Given the description of an element on the screen output the (x, y) to click on. 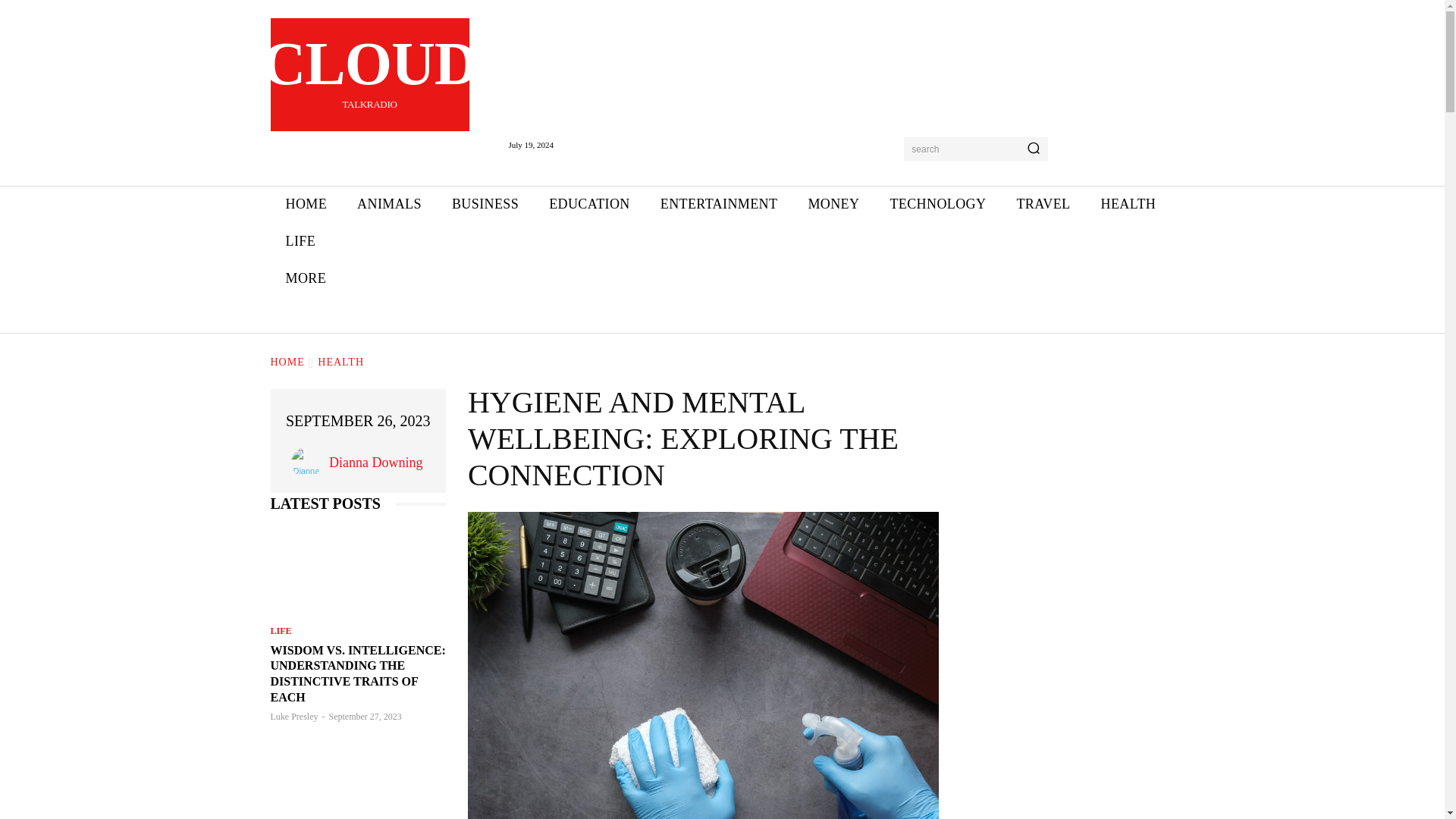
EDUCATION (589, 203)
TECHNOLOGY (368, 74)
TRAVEL (938, 203)
ANIMALS (1042, 203)
MONEY (389, 203)
HOME (833, 203)
HEALTH (305, 203)
BUSINESS (1127, 203)
LIFE (485, 203)
Dianna Downing (299, 241)
ENTERTAINMENT (310, 462)
View all posts in Health (719, 203)
